Given the description of an element on the screen output the (x, y) to click on. 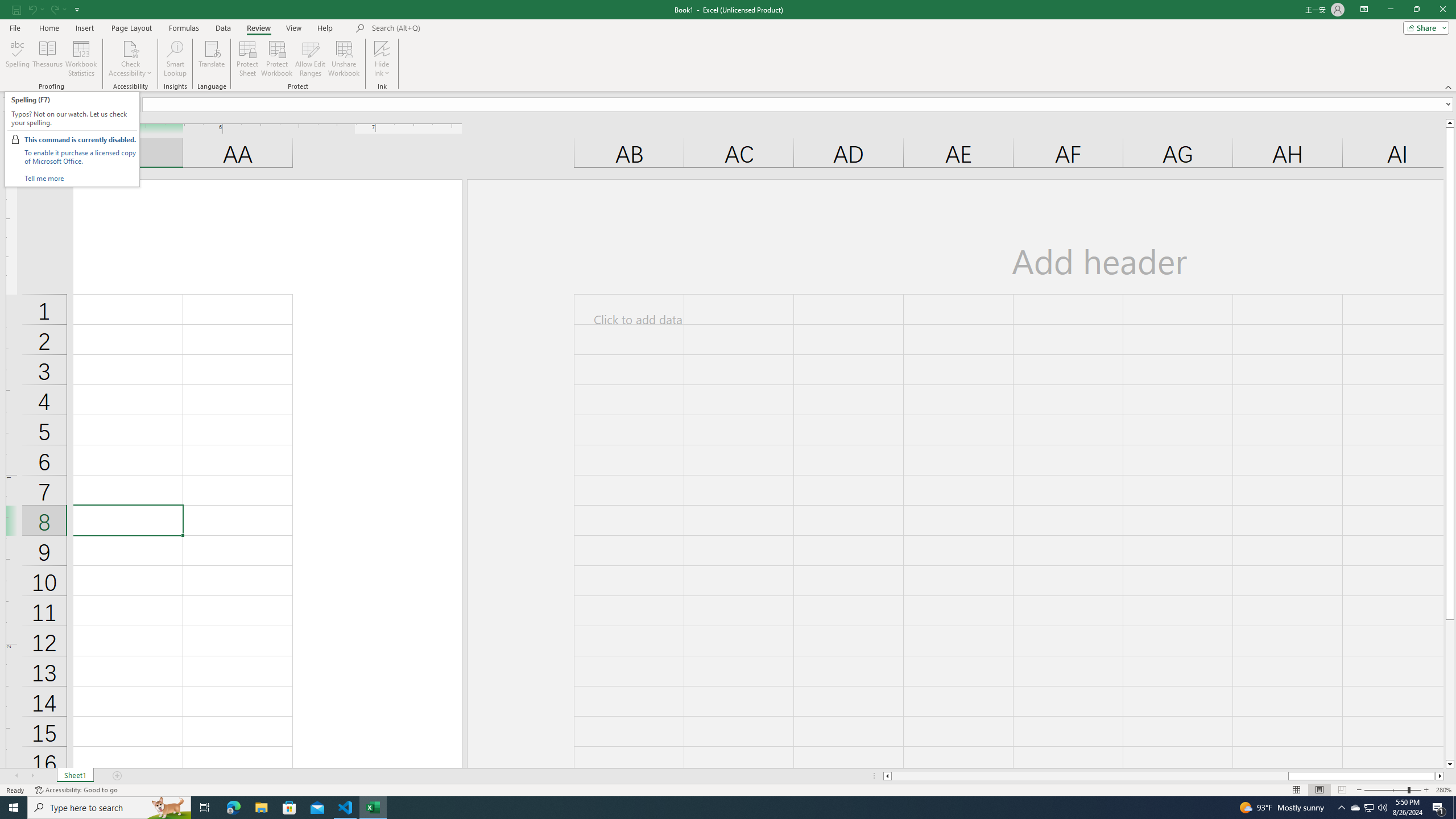
Allow Edit Ranges (310, 58)
Protect Sheet... (247, 58)
Translate (211, 58)
